Given the description of an element on the screen output the (x, y) to click on. 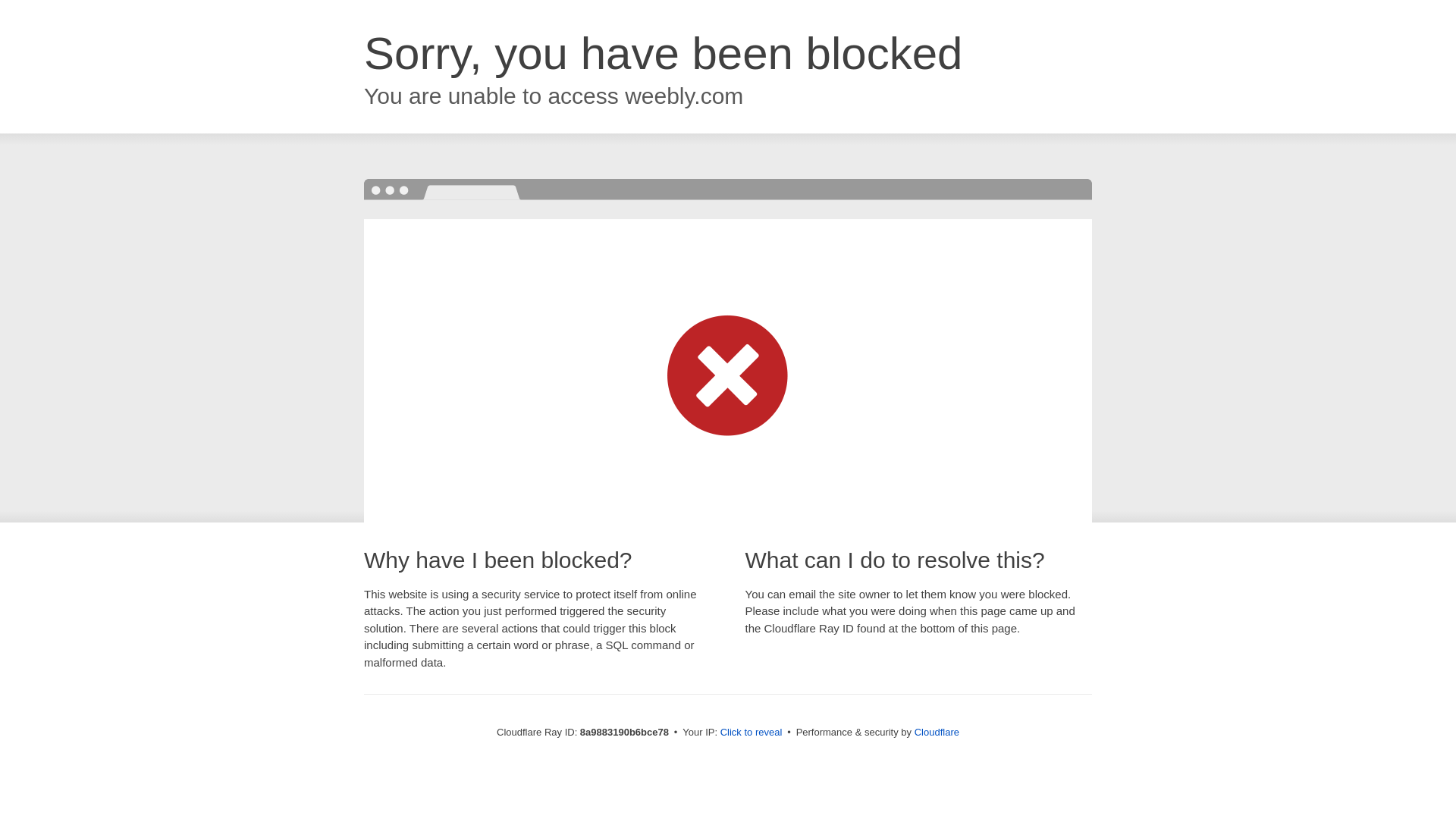
Cloudflare (936, 731)
Click to reveal (751, 732)
